Given the description of an element on the screen output the (x, y) to click on. 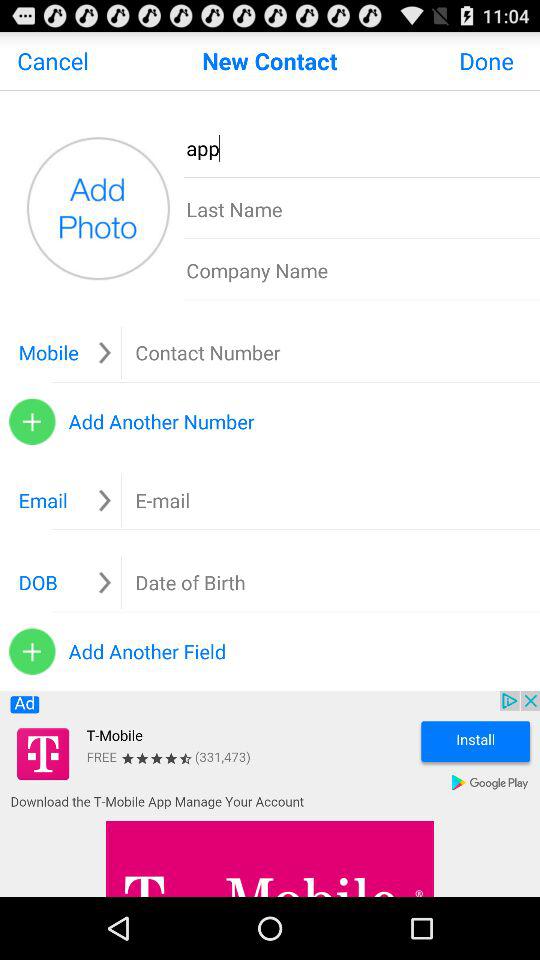
enter mobile contact number (251, 352)
